Given the description of an element on the screen output the (x, y) to click on. 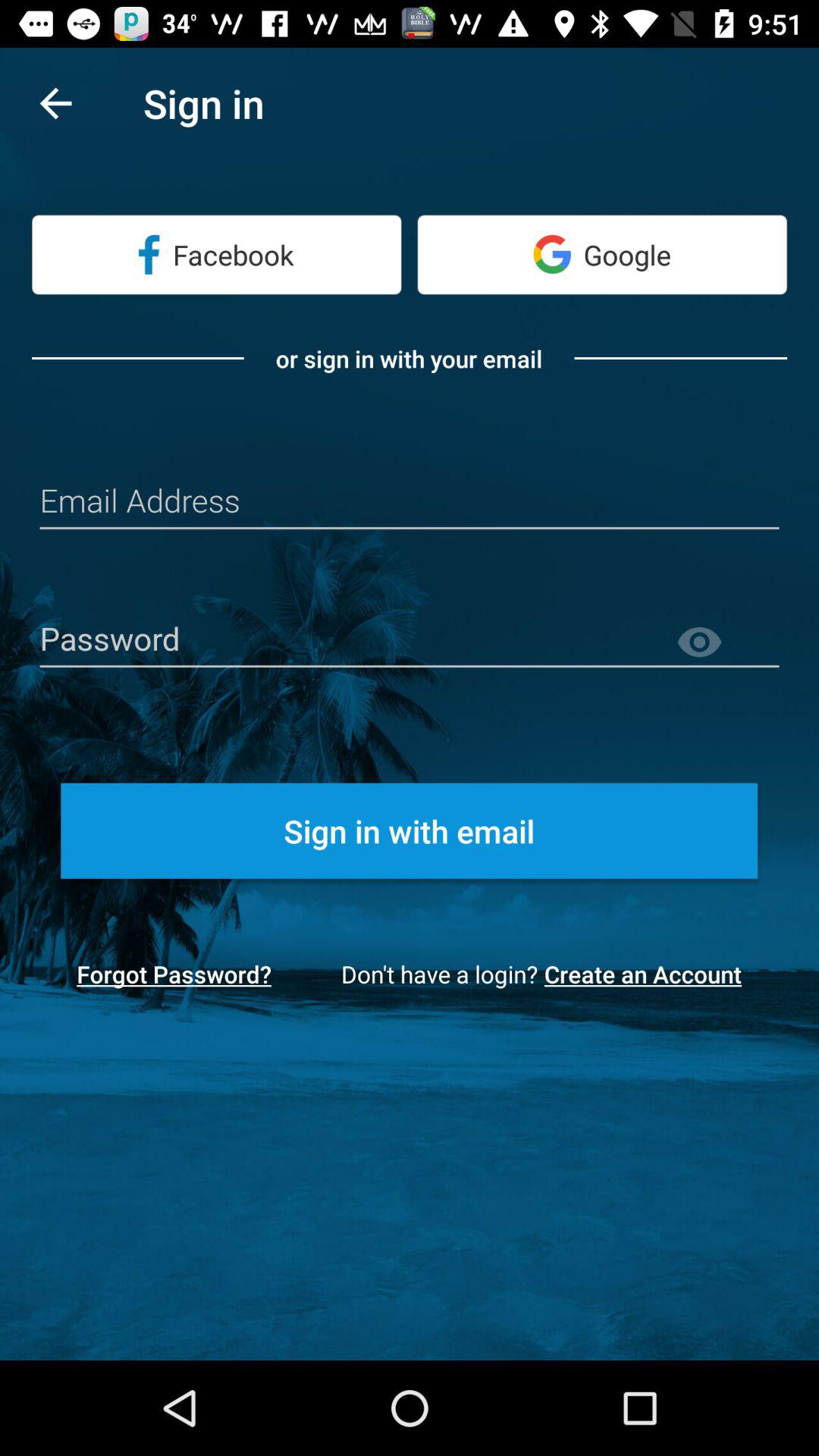
choose the item to the left of the sign in icon (55, 103)
